Given the description of an element on the screen output the (x, y) to click on. 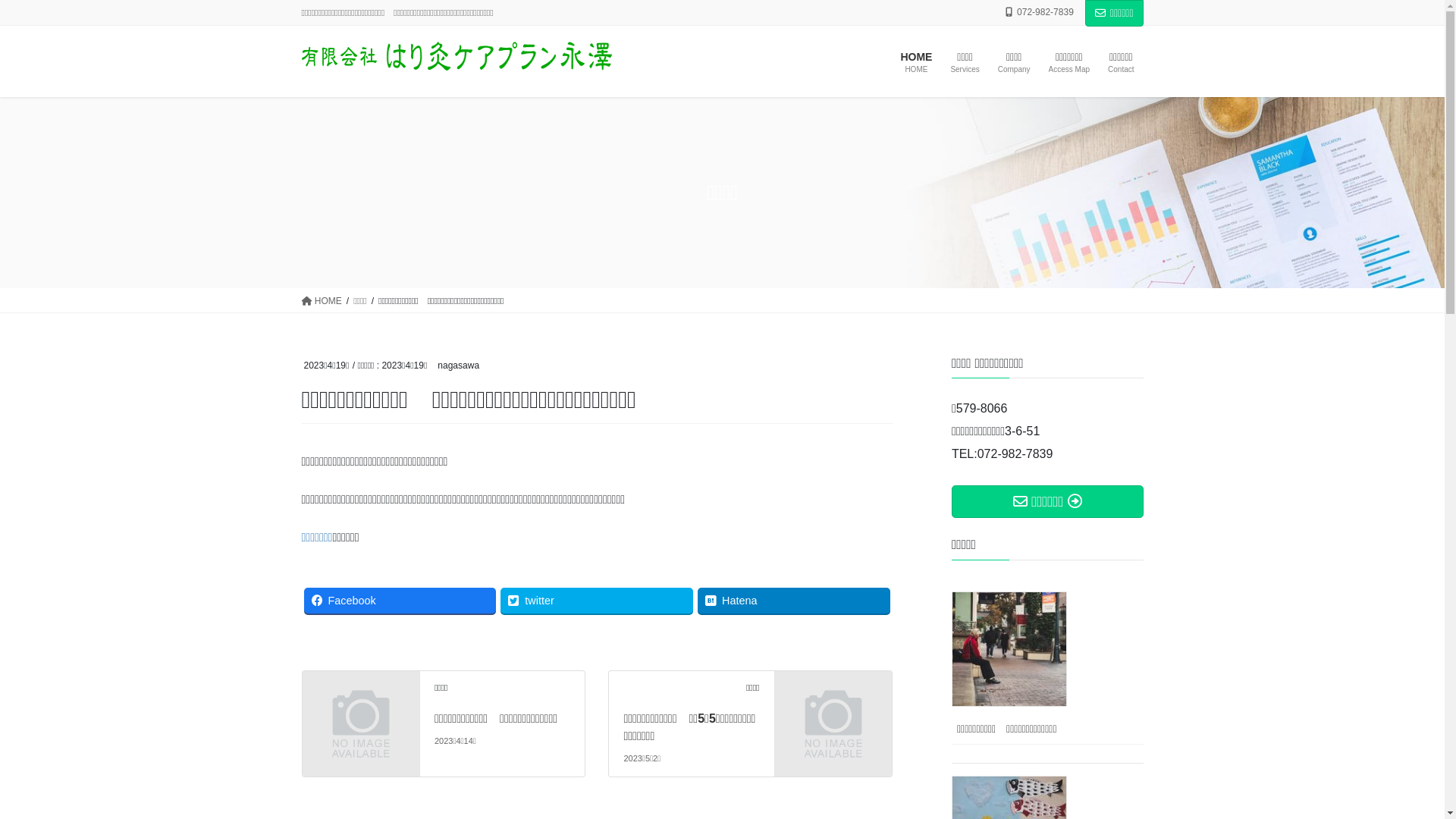
twitter Element type: text (596, 600)
HOME Element type: text (321, 300)
Facebook Element type: text (399, 600)
HOME
HOME Element type: text (916, 62)
Hatena Element type: text (793, 600)
